Given the description of an element on the screen output the (x, y) to click on. 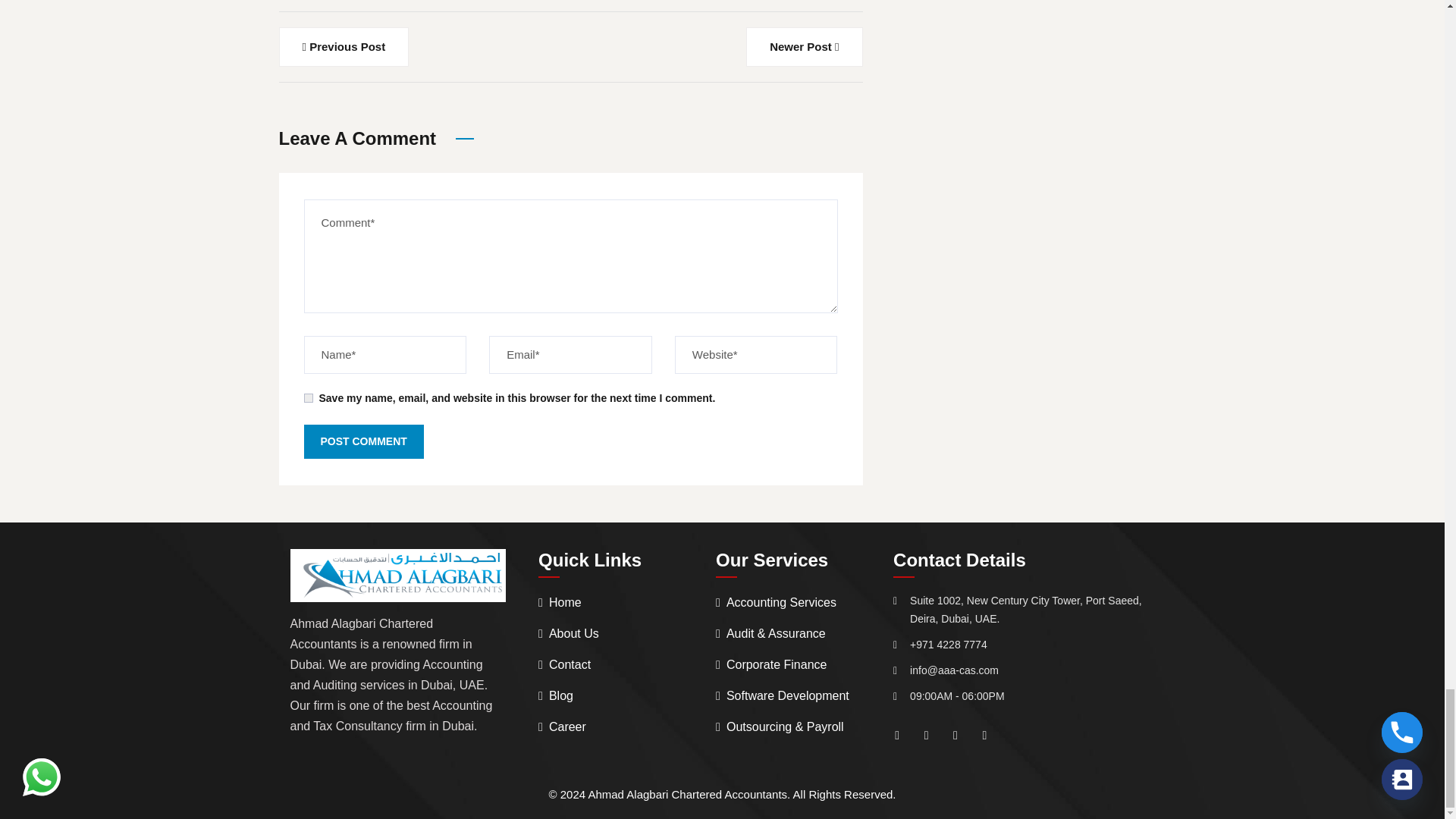
Post Comment (362, 441)
